Given the description of an element on the screen output the (x, y) to click on. 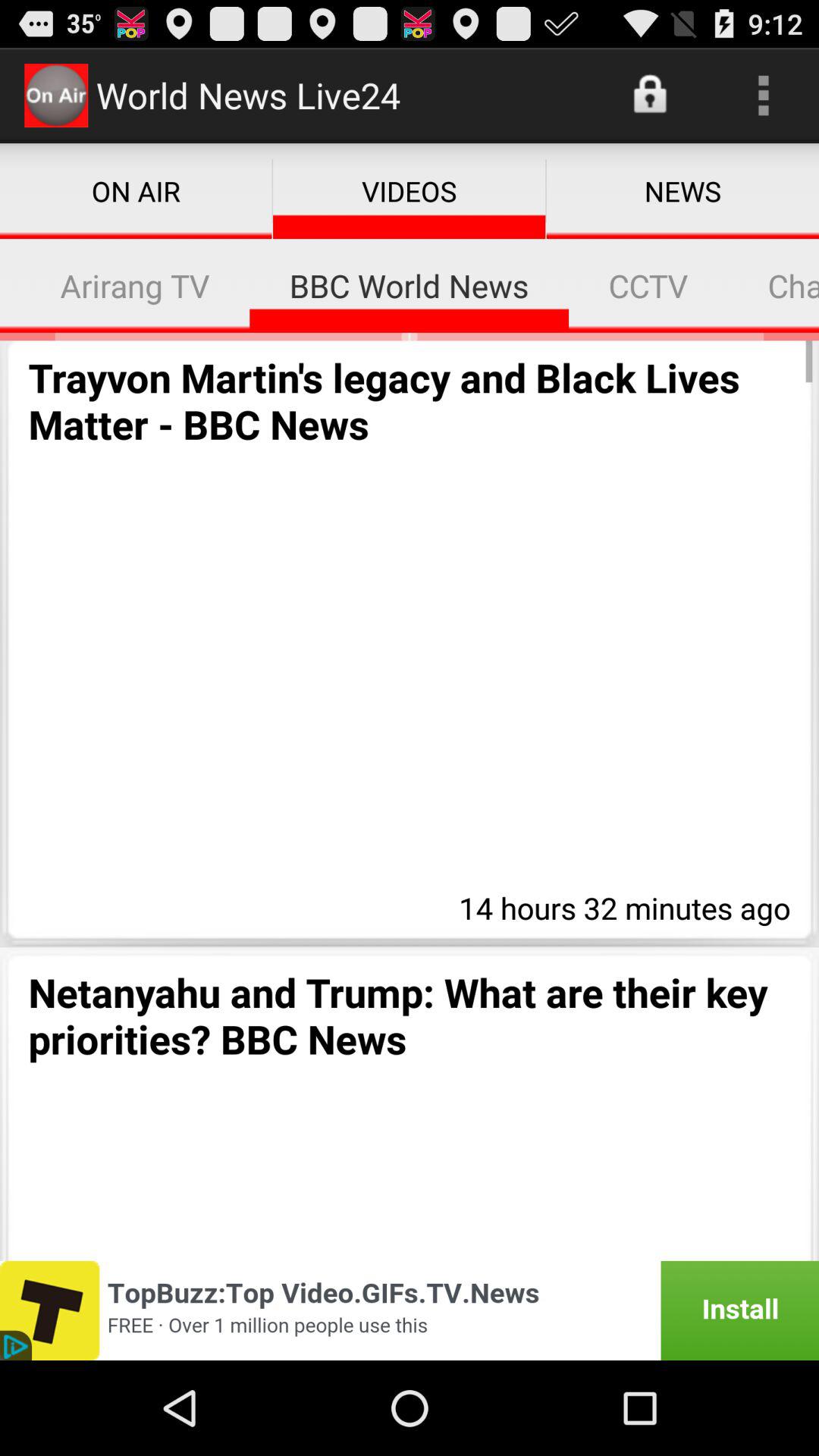
press trayvon martin s app (409, 400)
